Given the description of an element on the screen output the (x, y) to click on. 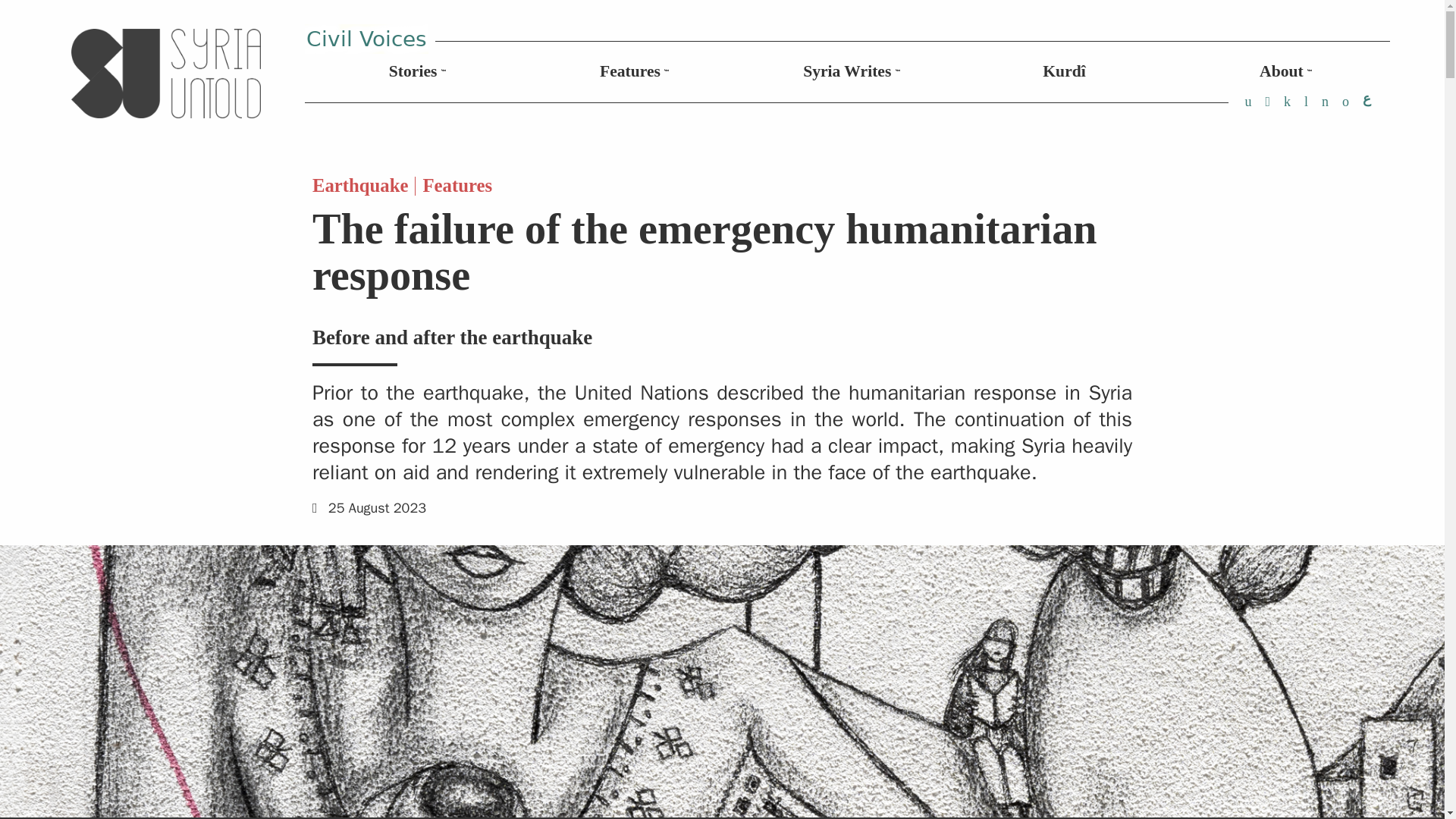
Stories (412, 71)
